Given the description of an element on the screen output the (x, y) to click on. 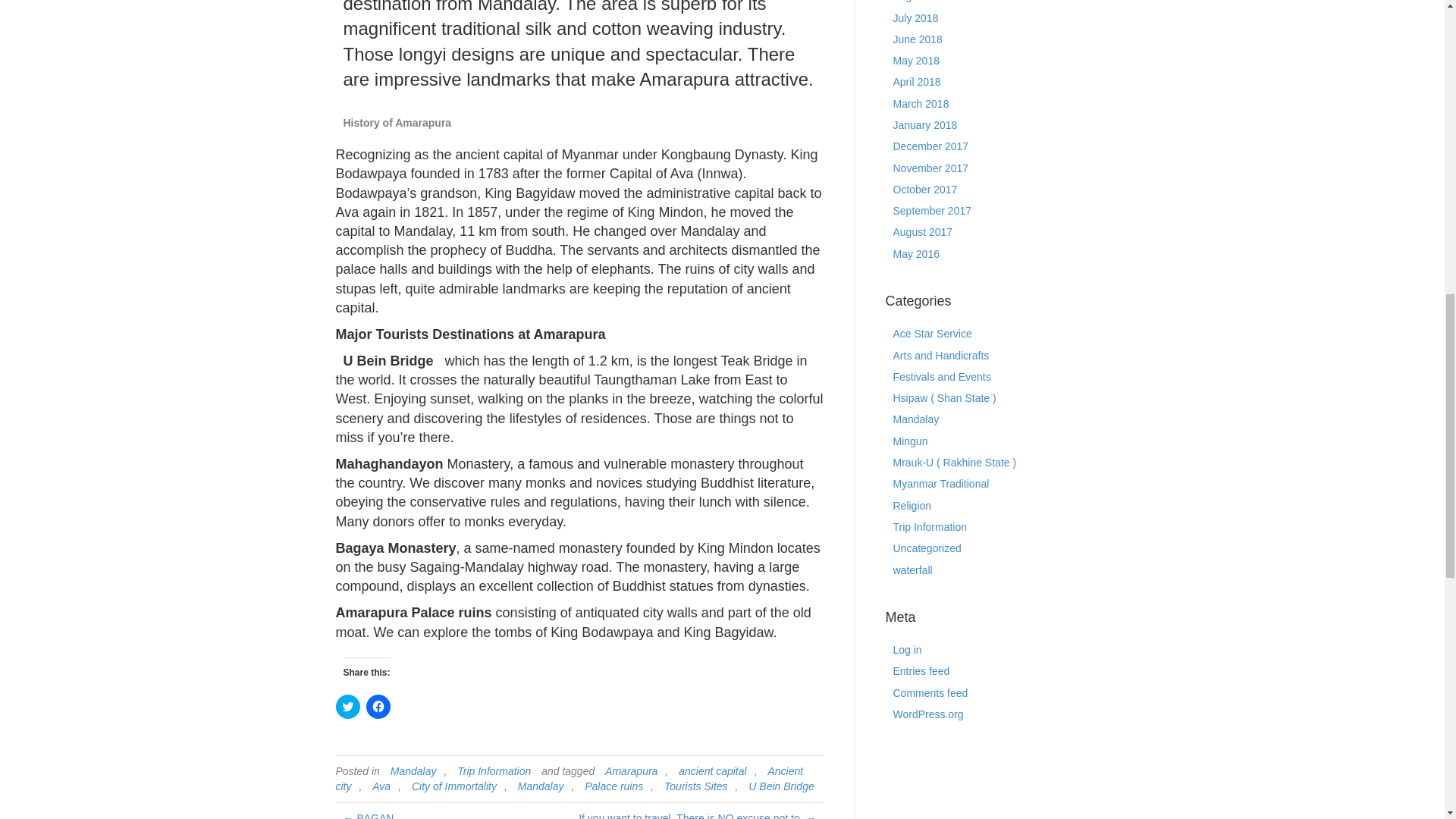
Palace ruins (613, 786)
U Bein Bridge (389, 360)
ancient capital (712, 770)
Trip Information (493, 770)
Click to share on Facebook (377, 706)
Amarapura (630, 770)
Ava (381, 786)
Mandalay (413, 770)
Mandalay (541, 786)
City of Immortality (453, 786)
Click to share on Twitter (346, 706)
Ancient city (568, 778)
